Given the description of an element on the screen output the (x, y) to click on. 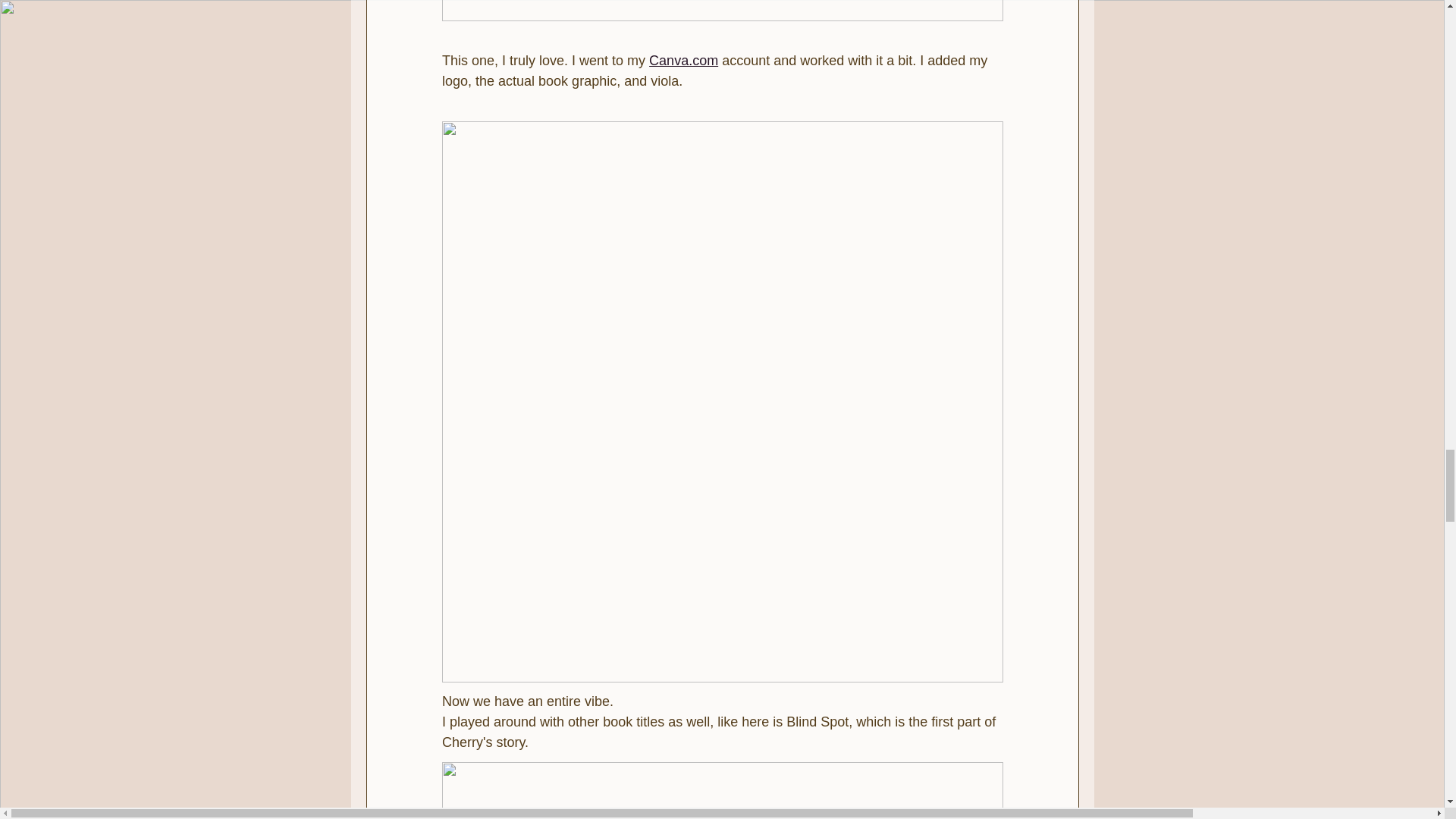
Canva.com (683, 60)
